Given the description of an element on the screen output the (x, y) to click on. 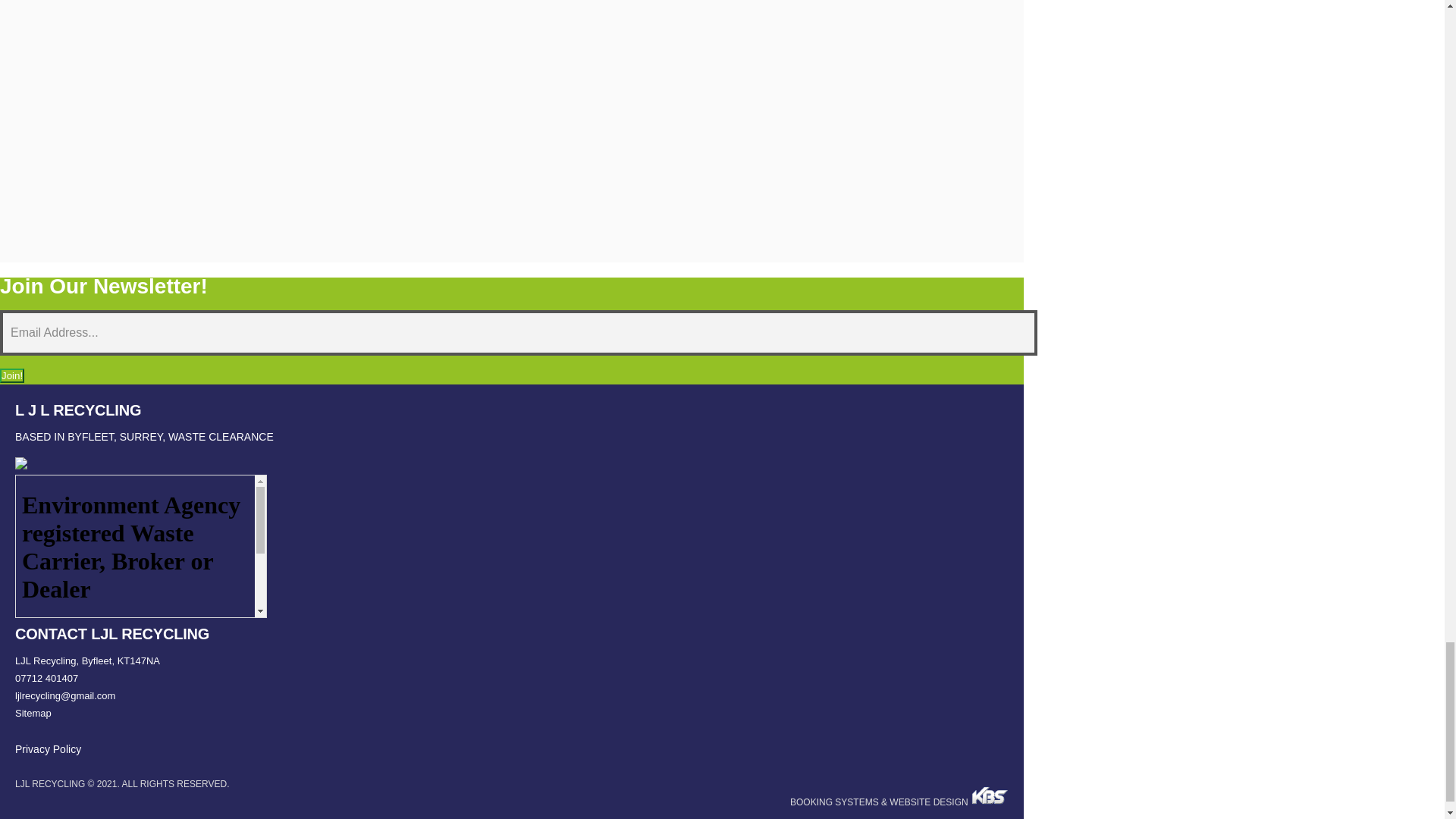
Sitemap (511, 712)
Our address (511, 660)
LJL Recycling, Byfleet, KT147NA (511, 660)
07712 401407 (511, 678)
Widget for CBDU218615 (140, 546)
Sitemap (511, 712)
Send us an email! (511, 695)
Join! (12, 375)
Call us today! (511, 678)
Privacy Policy (47, 748)
